Given the description of an element on the screen output the (x, y) to click on. 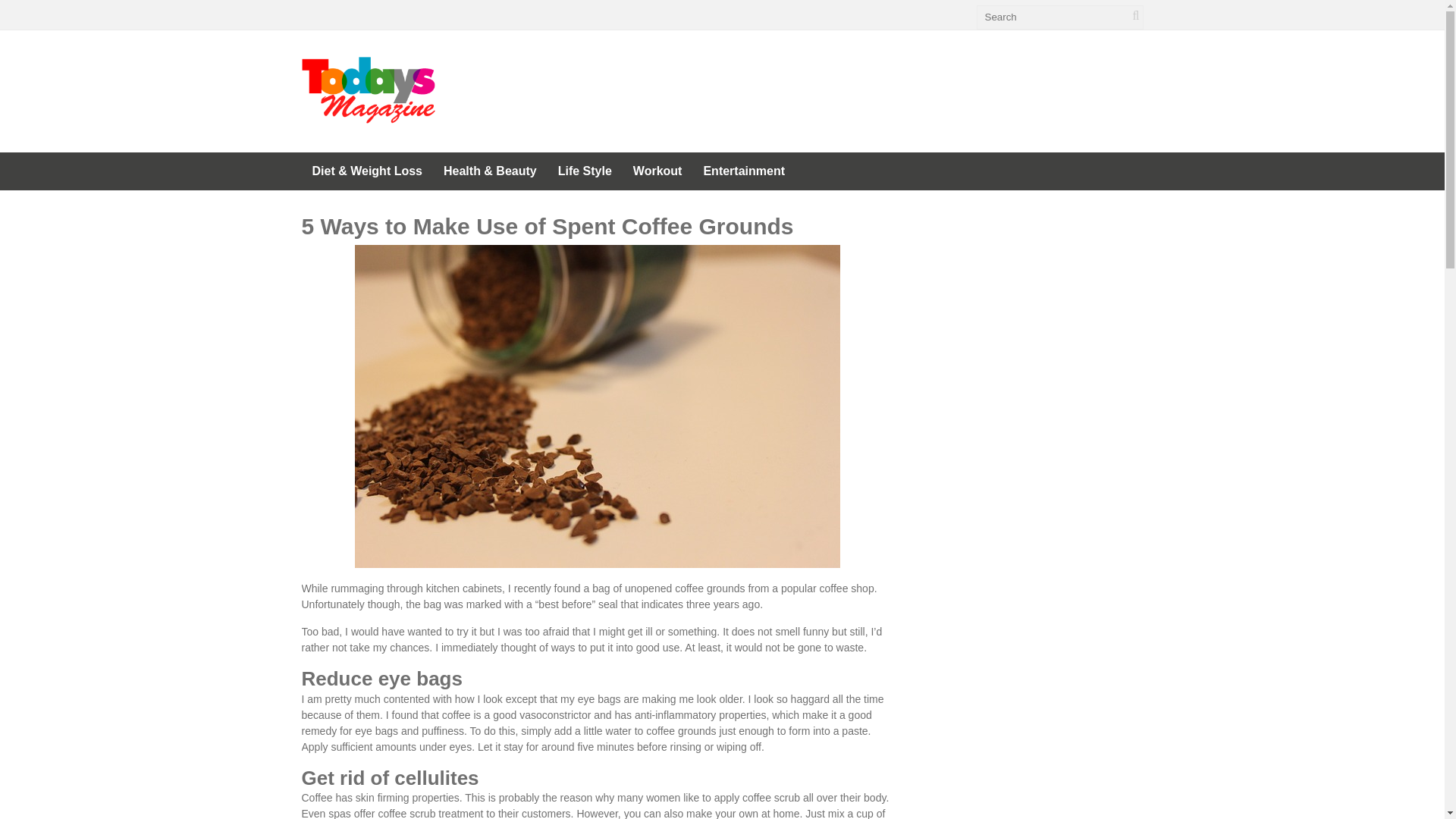
Todays Magazine (369, 115)
Workout (658, 171)
Life Style (585, 171)
Advertisement (866, 87)
Entertainment (743, 171)
